Given the description of an element on the screen output the (x, y) to click on. 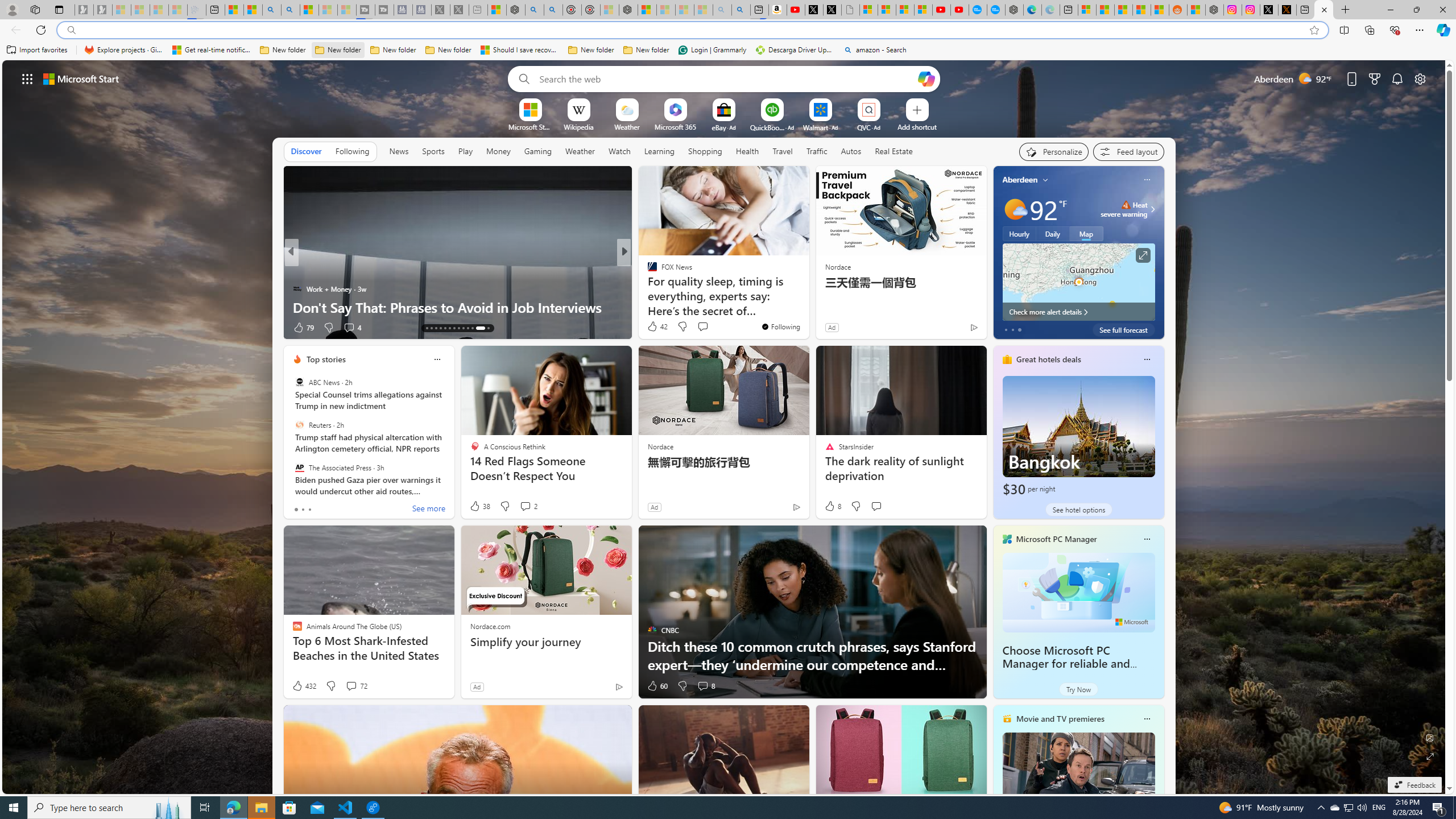
Hourly (1018, 233)
Edit Background (1430, 737)
View comments 2 Comment (528, 505)
432 Like (303, 685)
Simplify your journey (546, 641)
Favorites bar (728, 49)
Aberdeen (1019, 179)
AutomationID: tab-13 (426, 328)
